Given the description of an element on the screen output the (x, y) to click on. 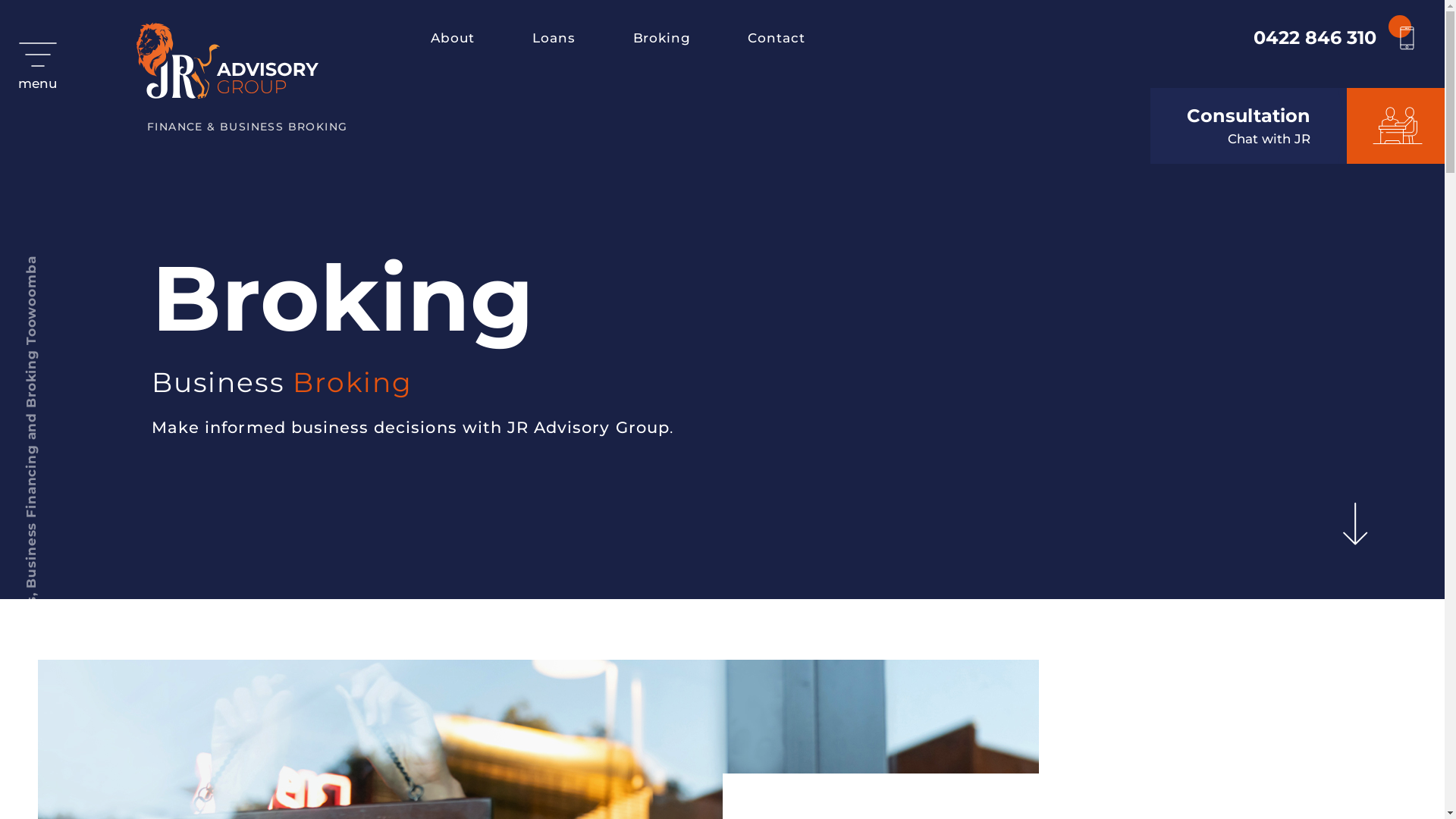
Consultation
Chat with JR Element type: text (1297, 125)
menu Element type: text (37, 60)
About Element type: text (452, 37)
Contact Element type: text (775, 37)
0422 846 310 Element type: text (1335, 37)
Loans Element type: text (553, 37)
Broking Element type: text (660, 37)
FINANCE & BUSINESS BROKING Element type: text (242, 78)
